Given the description of an element on the screen output the (x, y) to click on. 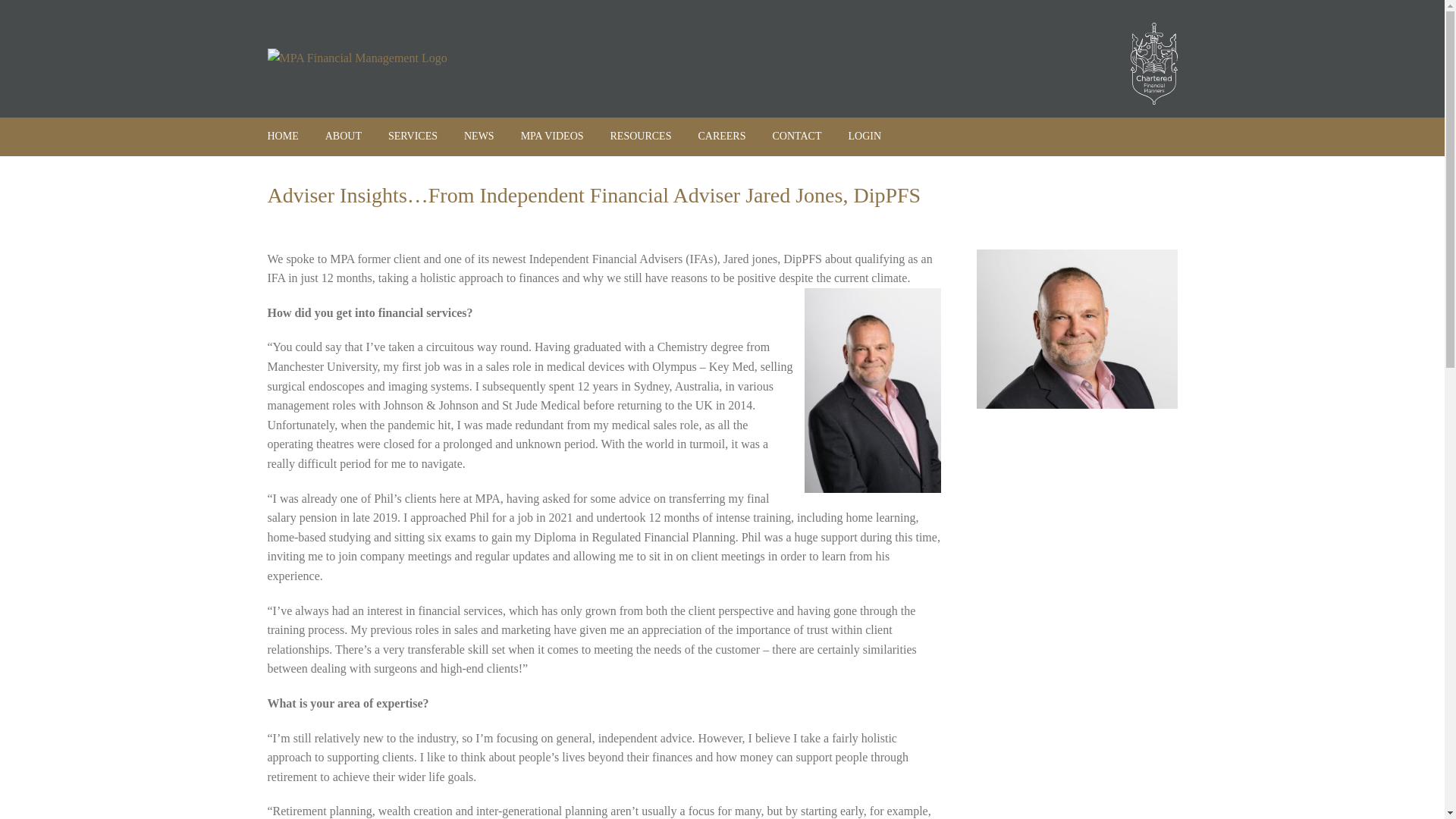
SERVICES (413, 136)
MPA VIDEOS (552, 136)
RESOURCES (640, 136)
ABOUT (342, 136)
CONTACT (796, 136)
J Jones (1076, 328)
CAREERS (721, 136)
